Given the description of an element on the screen output the (x, y) to click on. 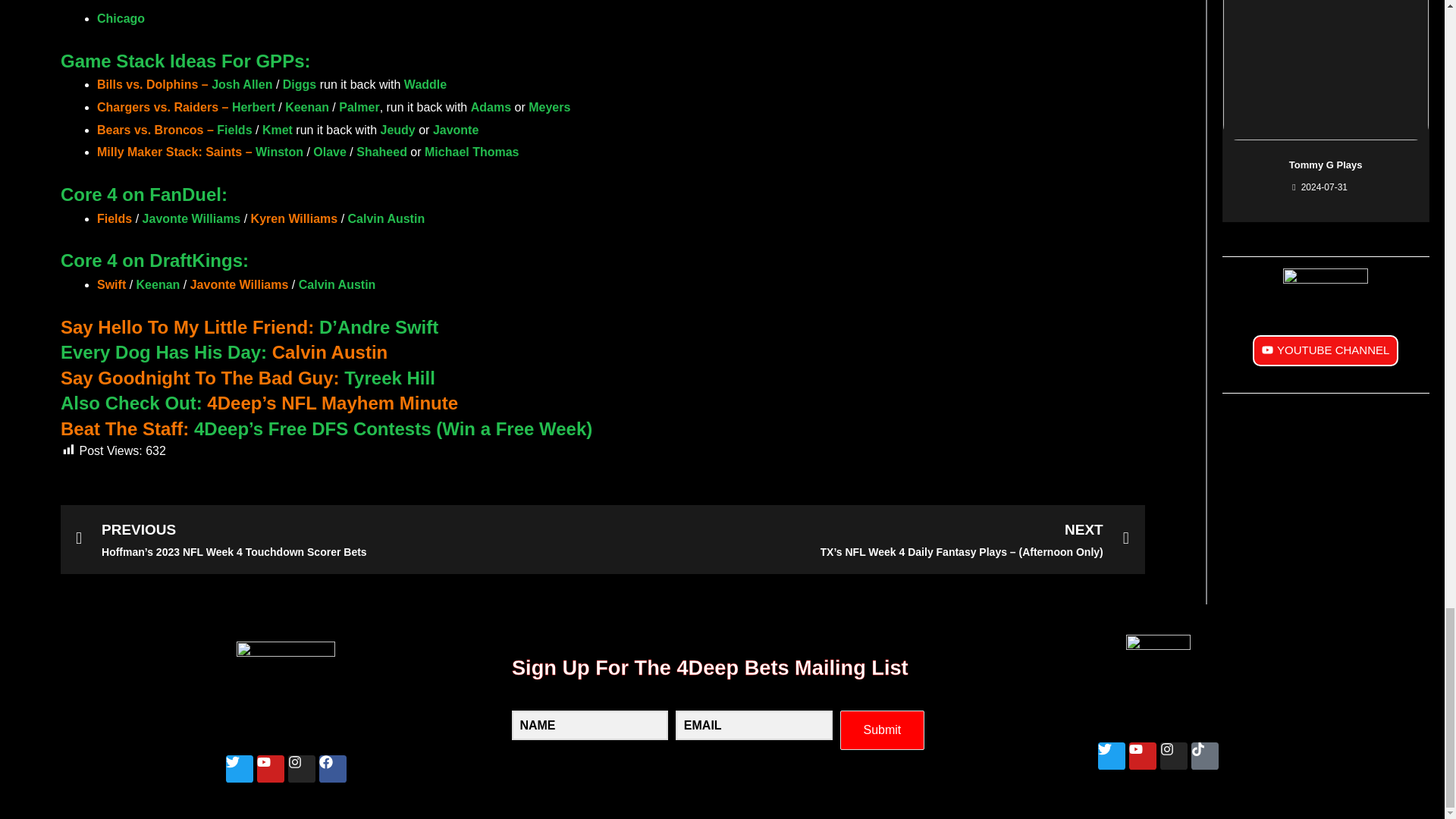
Tommy G Plays (1325, 164)
